Given the description of an element on the screen output the (x, y) to click on. 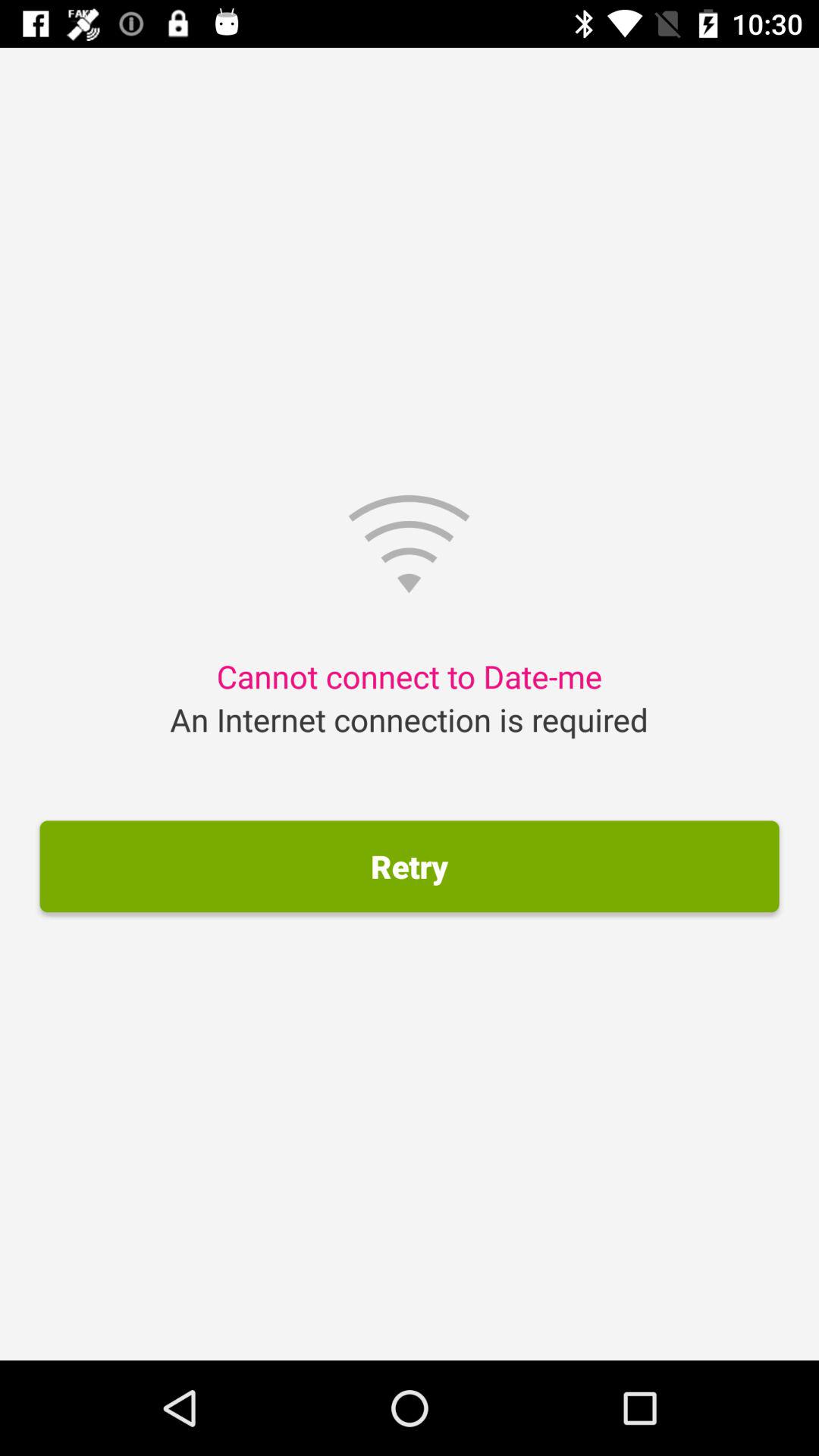
jump to retry button (409, 866)
